Given the description of an element on the screen output the (x, y) to click on. 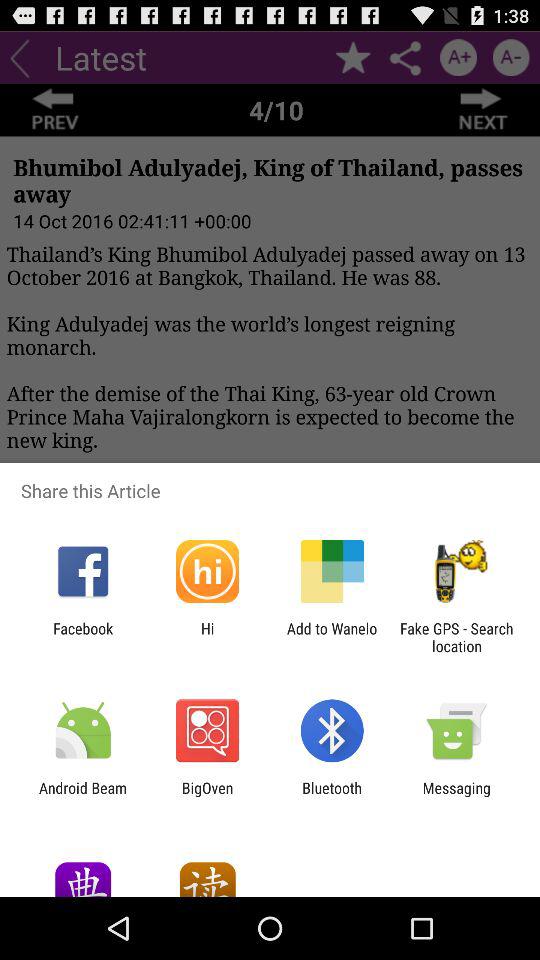
scroll until the android beam app (83, 796)
